Given the description of an element on the screen output the (x, y) to click on. 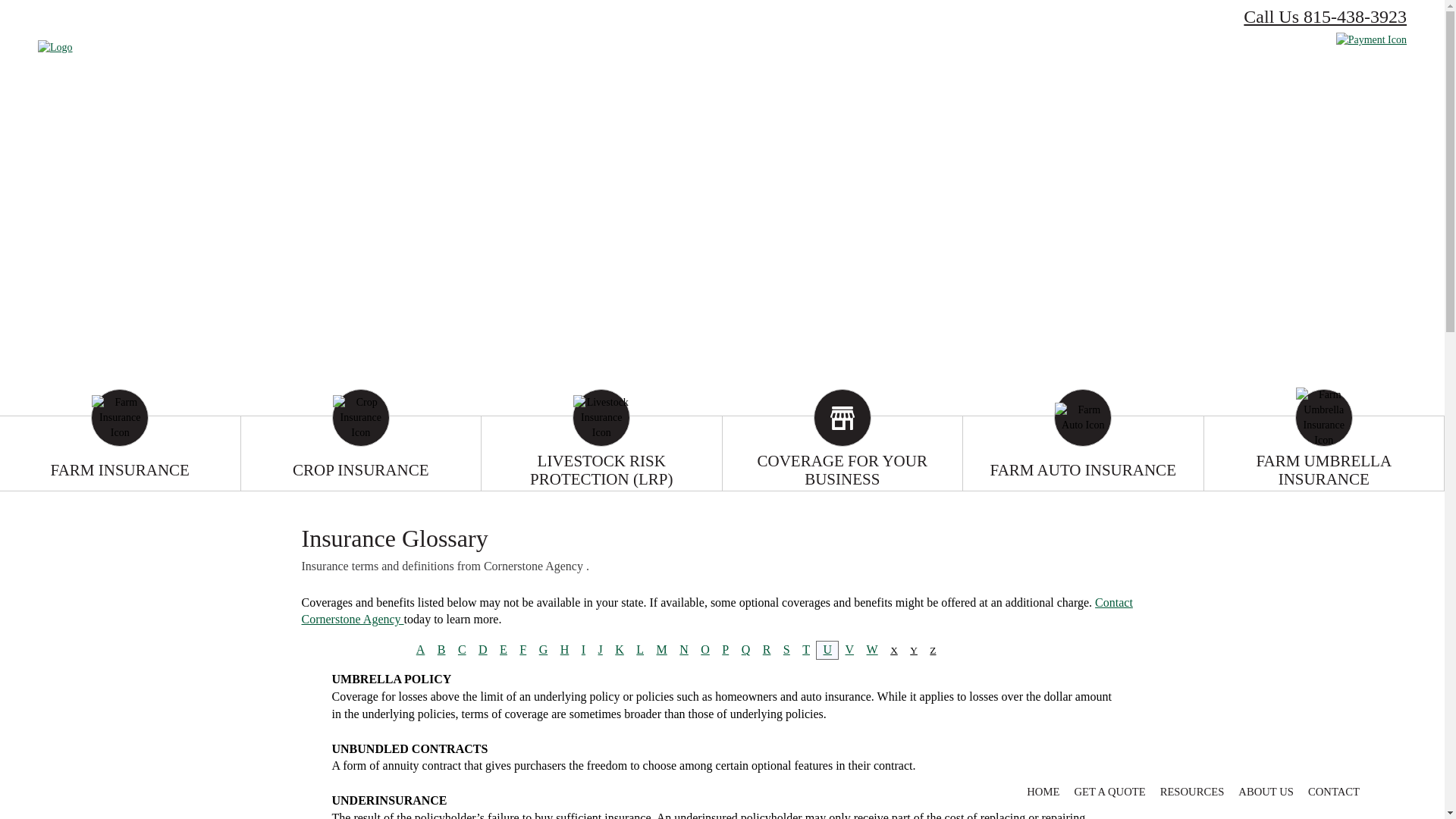
Y Element type: text (913, 649)
P Element type: text (724, 649)
S Element type: text (786, 649)
N Element type: text (683, 649)
C Element type: text (462, 649)
R Element type: text (766, 649)
H Element type: text (564, 649)
U Element type: text (826, 649)
B Element type: text (441, 649)
F Element type: text (522, 649)
W Element type: text (872, 649)
X Element type: text (893, 649)
RESOURCES Element type: text (1192, 791)
ABOUT US Element type: text (1266, 791)
A Element type: text (420, 649)
J Element type: text (600, 649)
M Element type: text (661, 649)
Call Us 815-438-3923 Element type: text (1324, 16)
L Element type: text (639, 649)
D Element type: text (482, 649)
K Element type: text (619, 649)
Z Element type: text (932, 649)
T Element type: text (805, 649)
Contact Cornerstone Agency Element type: text (716, 611)
V Element type: text (849, 649)
HOME Element type: text (1042, 791)
G Element type: text (543, 649)
Q Element type: text (745, 649)
I Element type: text (583, 649)
O Element type: text (704, 649)
E Element type: text (503, 649)
GET A QUOTE Element type: text (1109, 791)
CONTACT Element type: text (1333, 791)
